Given the description of an element on the screen output the (x, y) to click on. 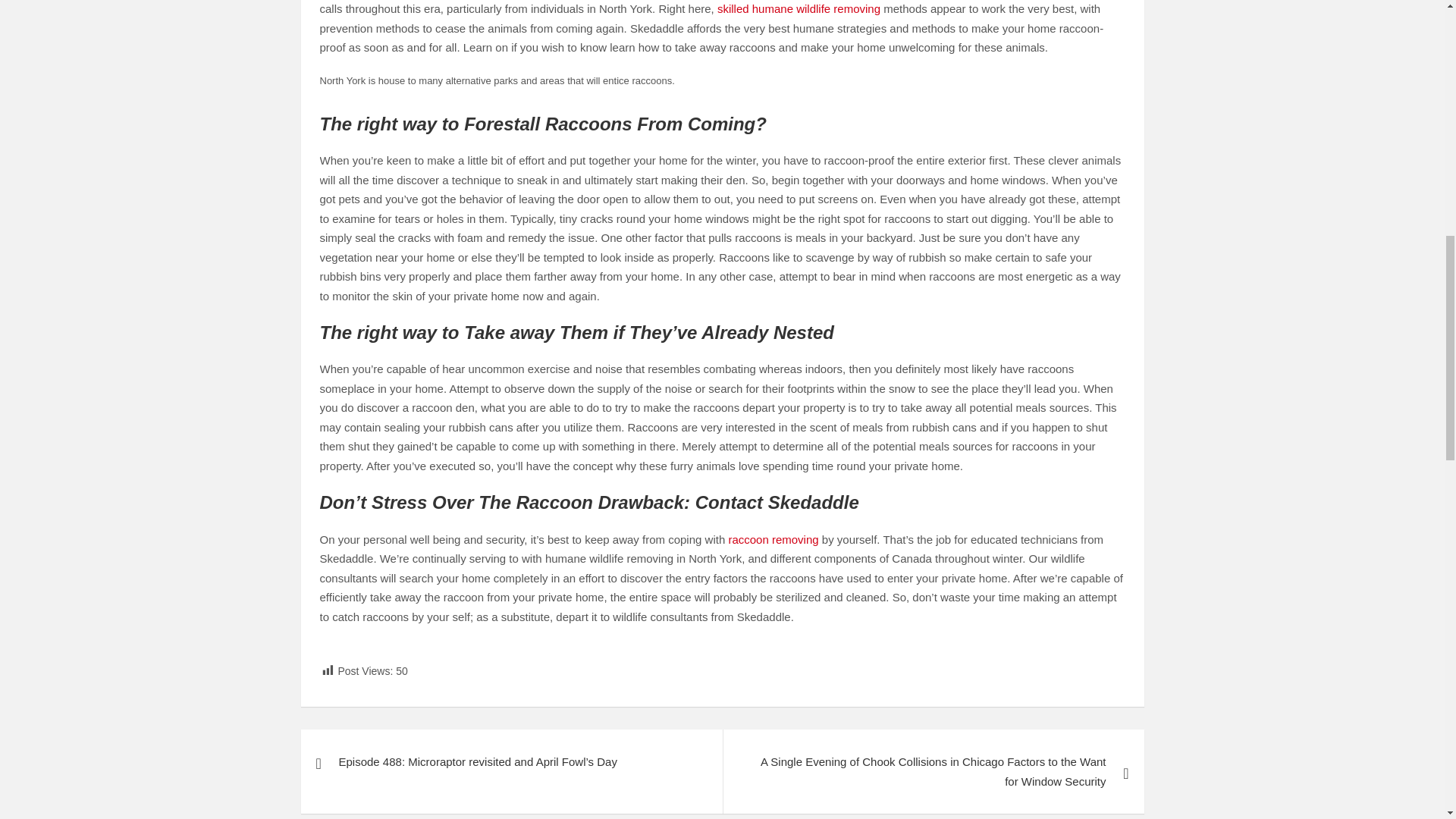
skilled humane wildlife removing (798, 8)
raccoon removing (773, 539)
